Given the description of an element on the screen output the (x, y) to click on. 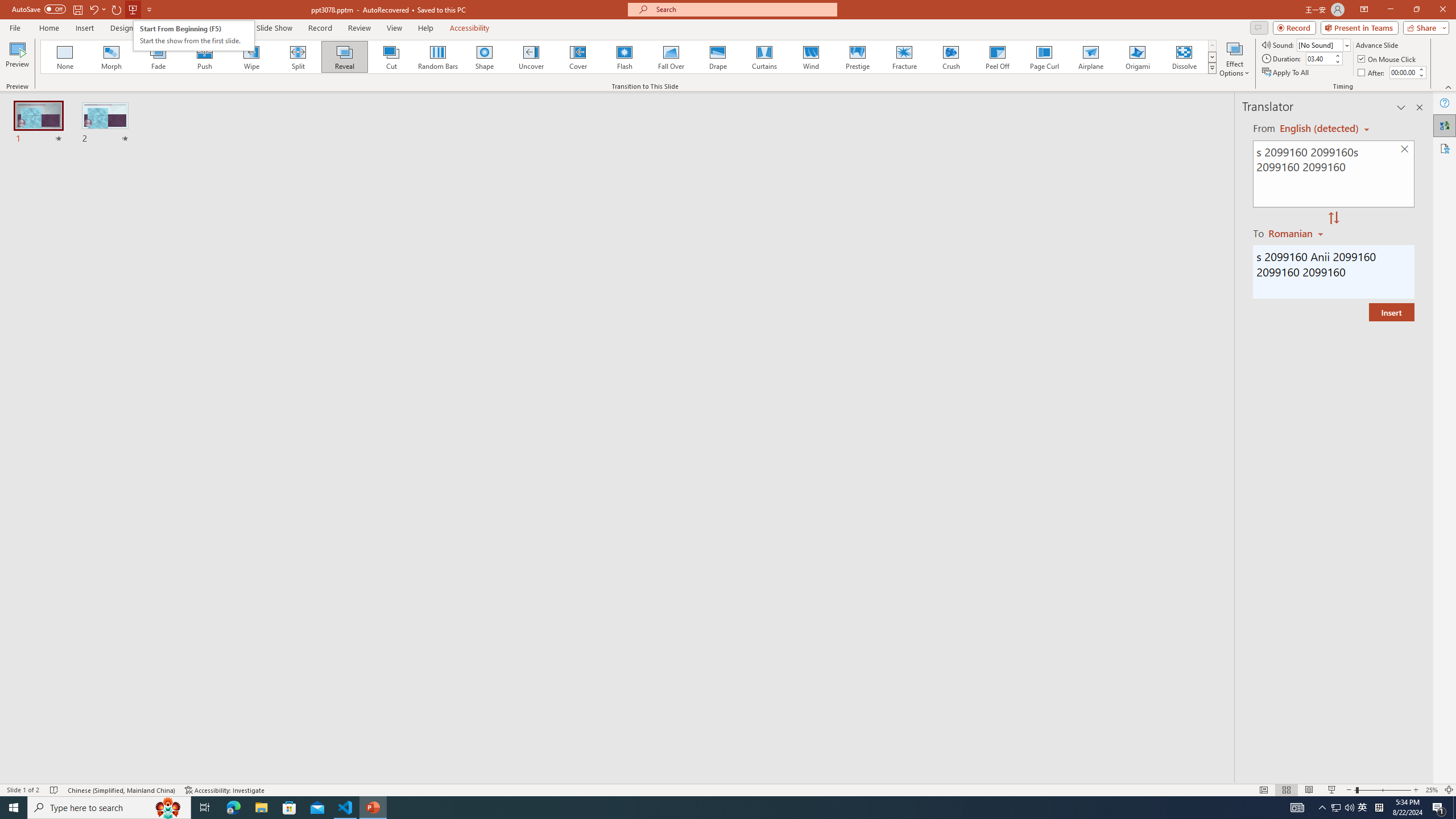
Peel Off (997, 56)
Czech (detected) (1319, 128)
Crush (950, 56)
Duration (1319, 58)
Fall Over (670, 56)
Romanian (1296, 232)
